Given the description of an element on the screen output the (x, y) to click on. 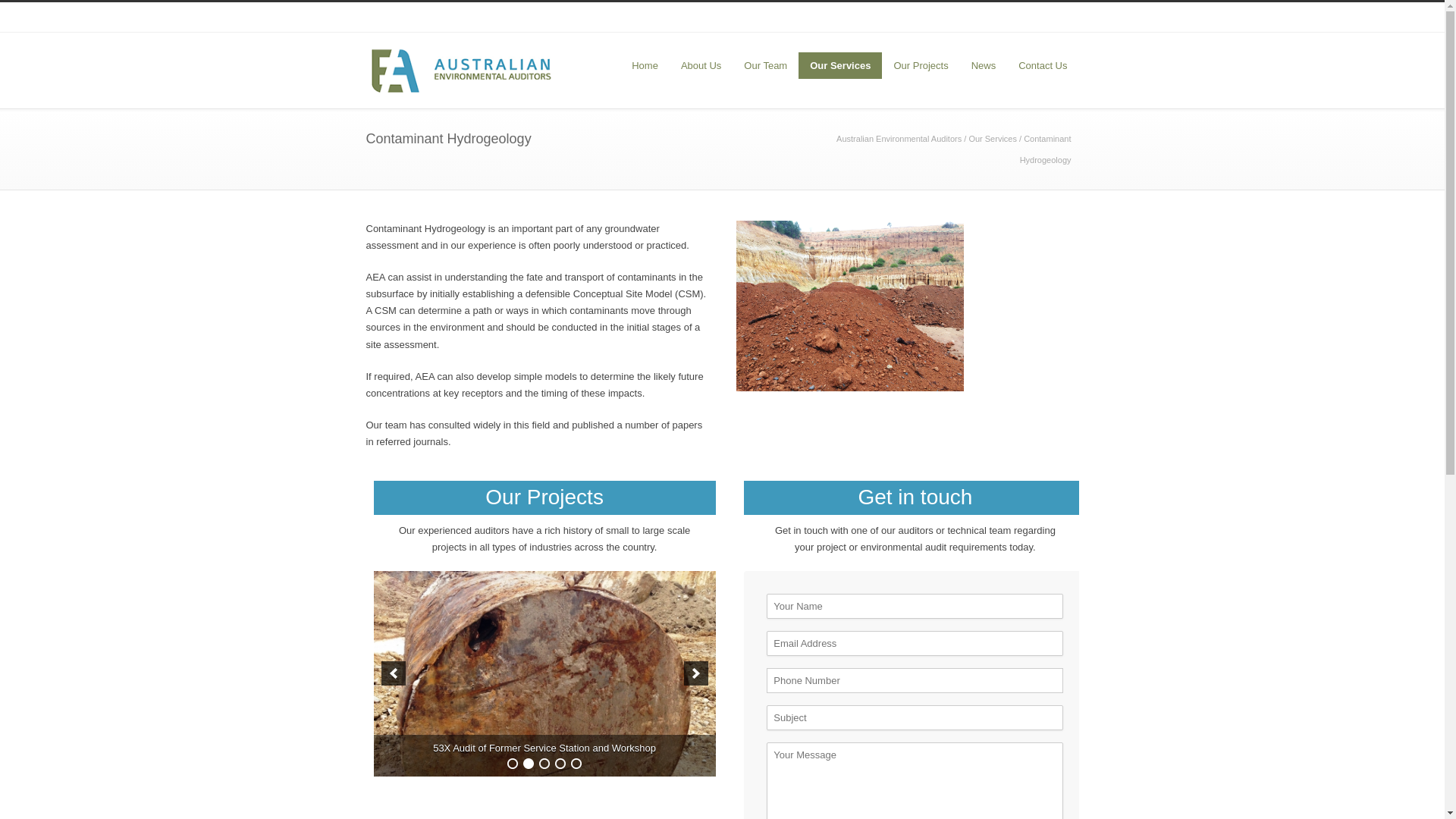
Home Element type: text (644, 65)
Our Projects Element type: text (920, 65)
About Us Element type: text (700, 65)
53X Audit of Former Service Station and Workshop Element type: hover (544, 673)
Our Team Element type: text (765, 65)
Contact Us Element type: text (1042, 65)
Our Services Element type: text (992, 138)
2 Element type: text (528, 763)
Our Services Element type: text (839, 65)
News Element type: text (983, 65)
Australian Environmental Auditors Element type: text (898, 138)
5 Element type: text (576, 763)
1 Element type: text (512, 763)
3 Element type: text (544, 763)
4 Element type: text (560, 763)
